Given the description of an element on the screen output the (x, y) to click on. 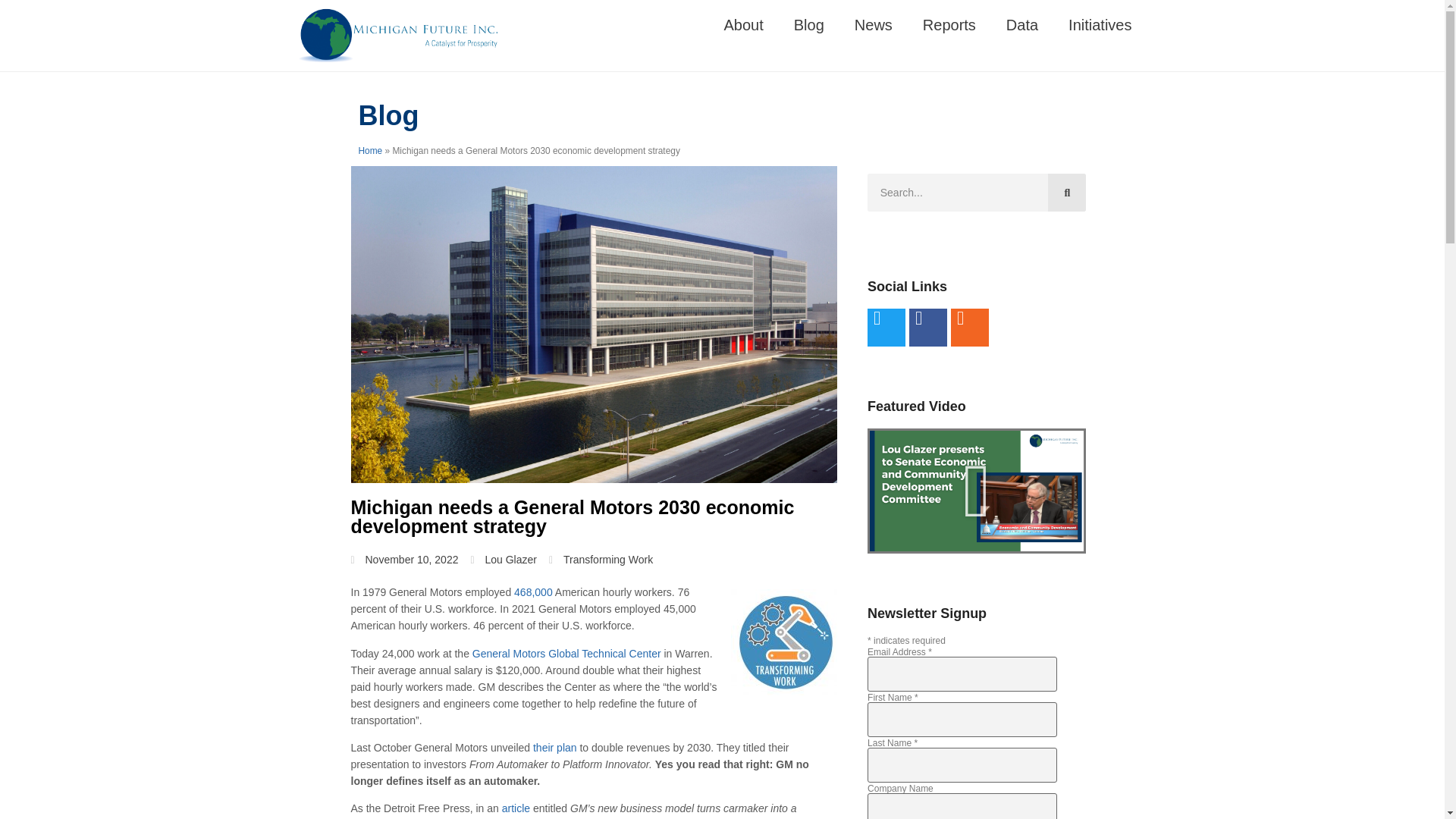
November 10, 2022 (404, 559)
Home (369, 150)
Lou Glazer (502, 559)
News (873, 24)
Initiatives (1099, 24)
468,000 (533, 592)
Blog (809, 24)
Transforming Work (607, 559)
their plan (554, 747)
About (743, 24)
Reports (949, 24)
General Motors Global Technical Center (566, 653)
Data (1021, 24)
article (515, 808)
